Given the description of an element on the screen output the (x, y) to click on. 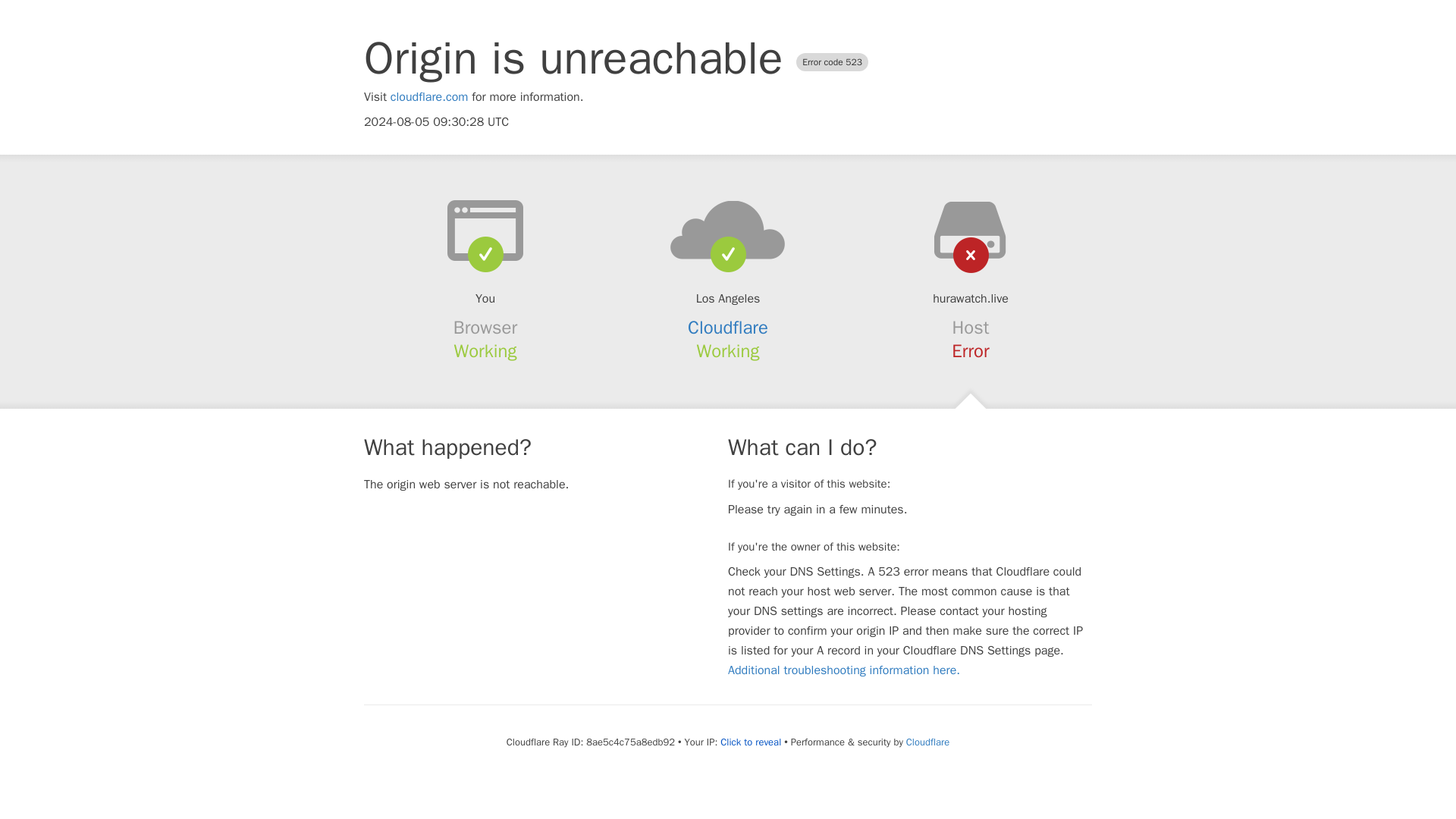
Cloudflare (727, 327)
Additional troubleshooting information here. (843, 670)
Click to reveal (750, 742)
Cloudflare (927, 741)
cloudflare.com (429, 96)
